Given the description of an element on the screen output the (x, y) to click on. 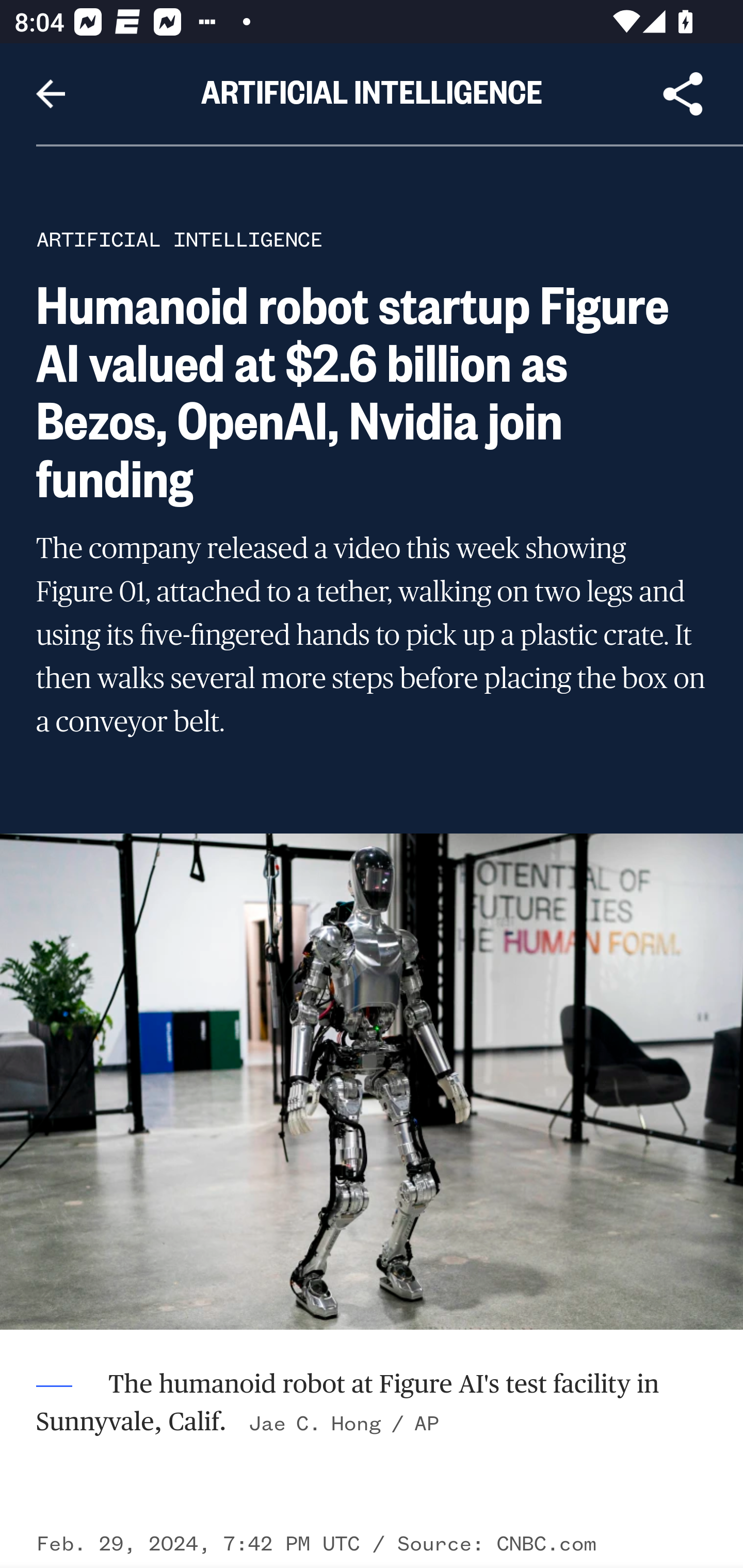
Navigate up (50, 93)
Share Article, button (683, 94)
ARTIFICIAL INTELLIGENCE (179, 239)
